Given the description of an element on the screen output the (x, y) to click on. 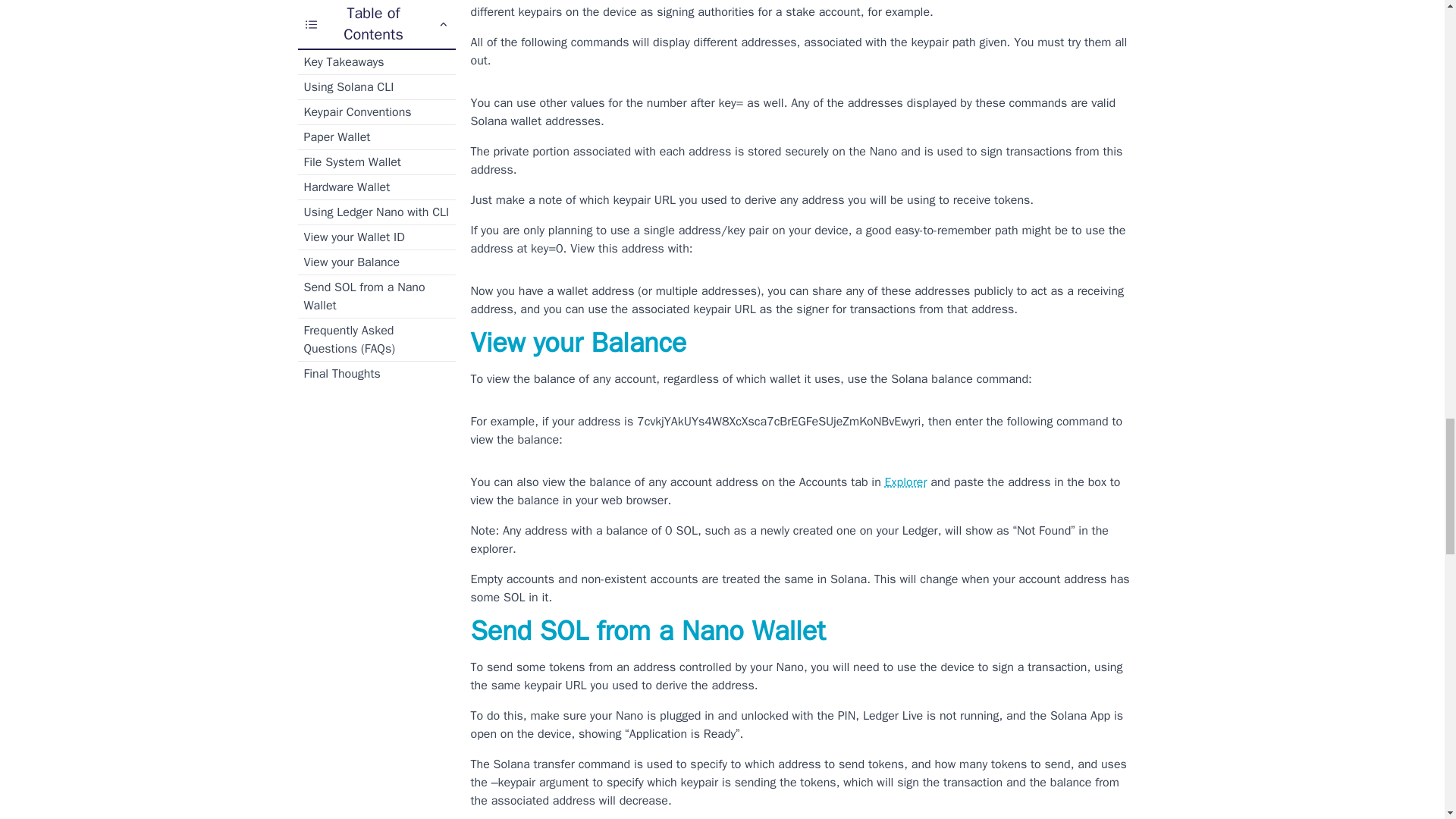
Explorer (906, 482)
